Given the description of an element on the screen output the (x, y) to click on. 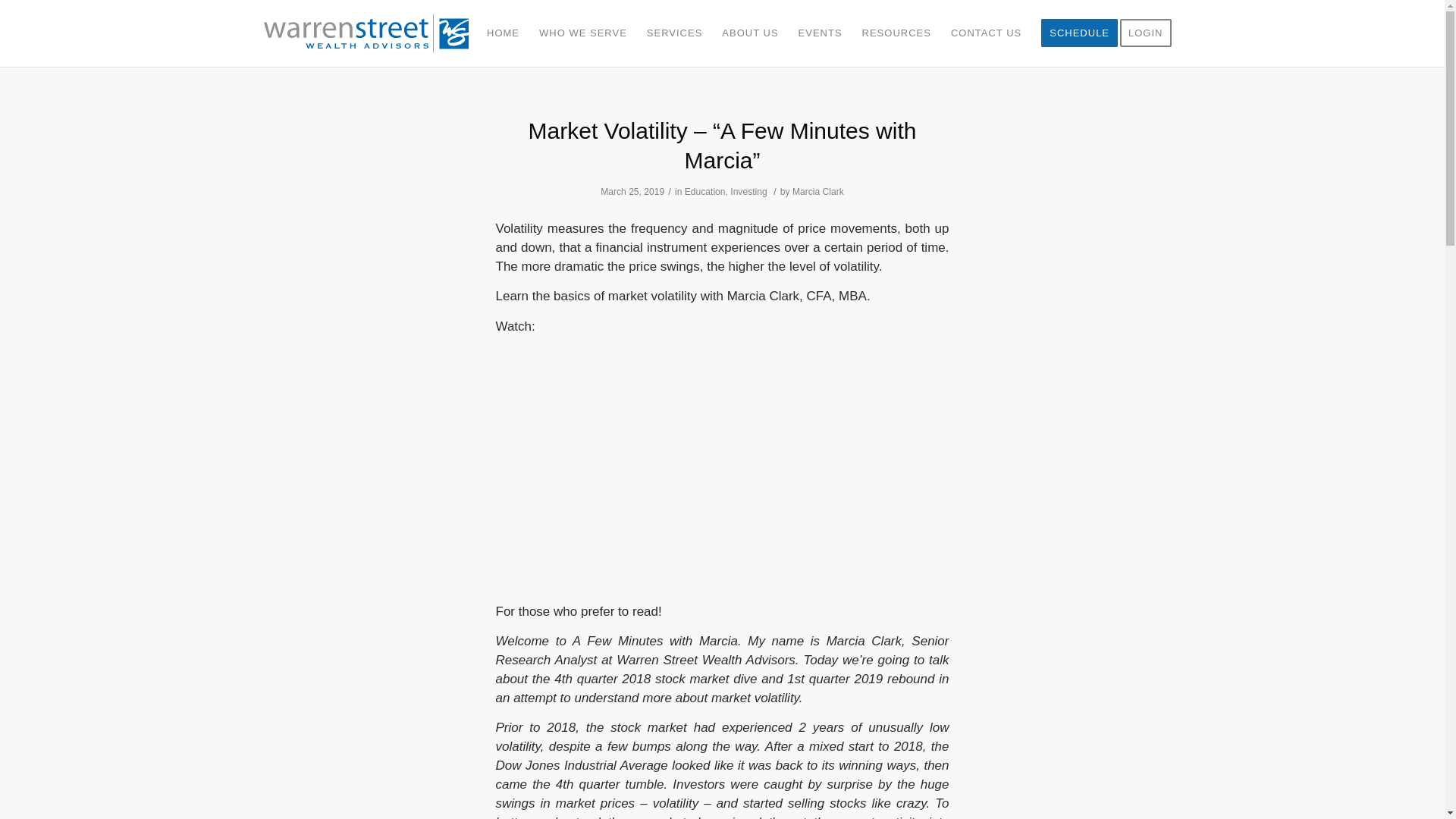
color (371, 33)
Posts by Marcia Clark (818, 191)
WHO WE SERVE (583, 33)
Education (704, 191)
RESOURCES (895, 33)
LOGIN (1149, 33)
Marcia Clark (818, 191)
ABOUT US (749, 33)
CONTACT US (985, 33)
SCHEDULE (1078, 33)
Investing (748, 191)
EVENTS (820, 33)
SERVICES (675, 33)
